Given the description of an element on the screen output the (x, y) to click on. 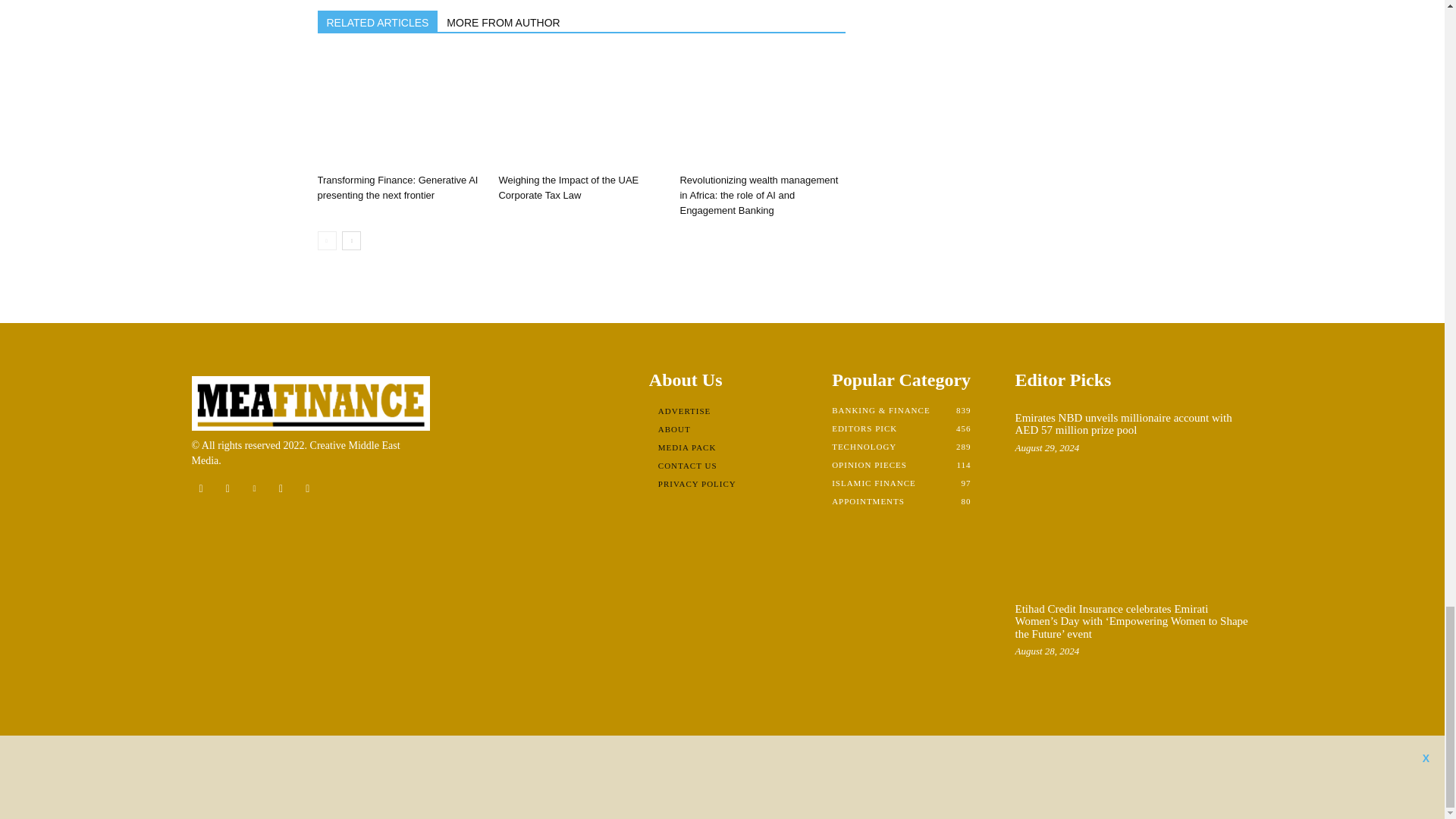
Weighing the Impact of the UAE Corporate Tax Law (568, 187)
Weighing the Impact of the UAE Corporate Tax Law (580, 110)
